Given the description of an element on the screen output the (x, y) to click on. 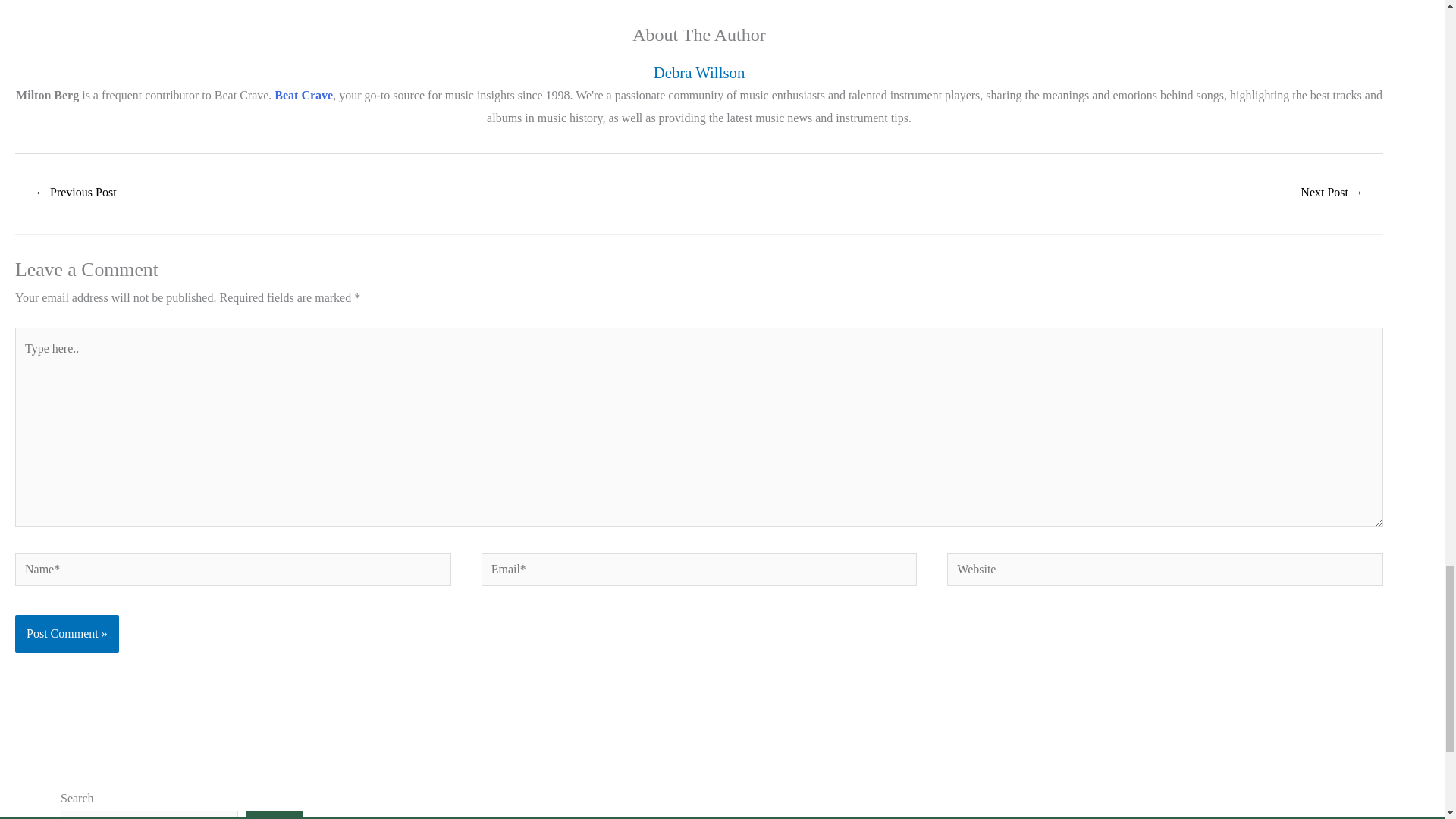
Lighter Shade Of Brown Facts (75, 193)
Debra Willson (698, 72)
Beat Crave (304, 94)
Ozzy Osbourne Facts (1331, 193)
